Given the description of an element on the screen output the (x, y) to click on. 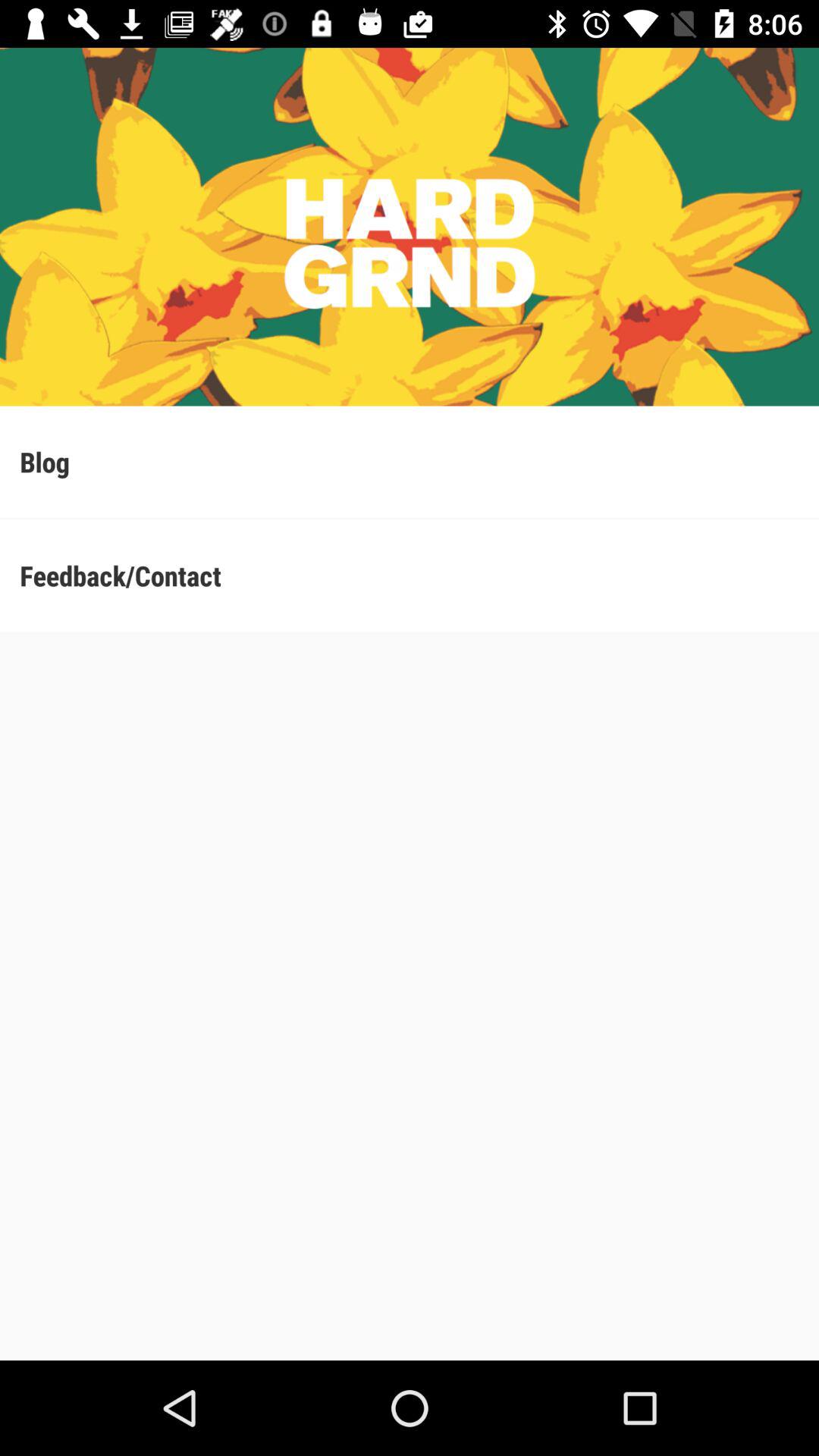
click feedback/contact item (409, 575)
